Given the description of an element on the screen output the (x, y) to click on. 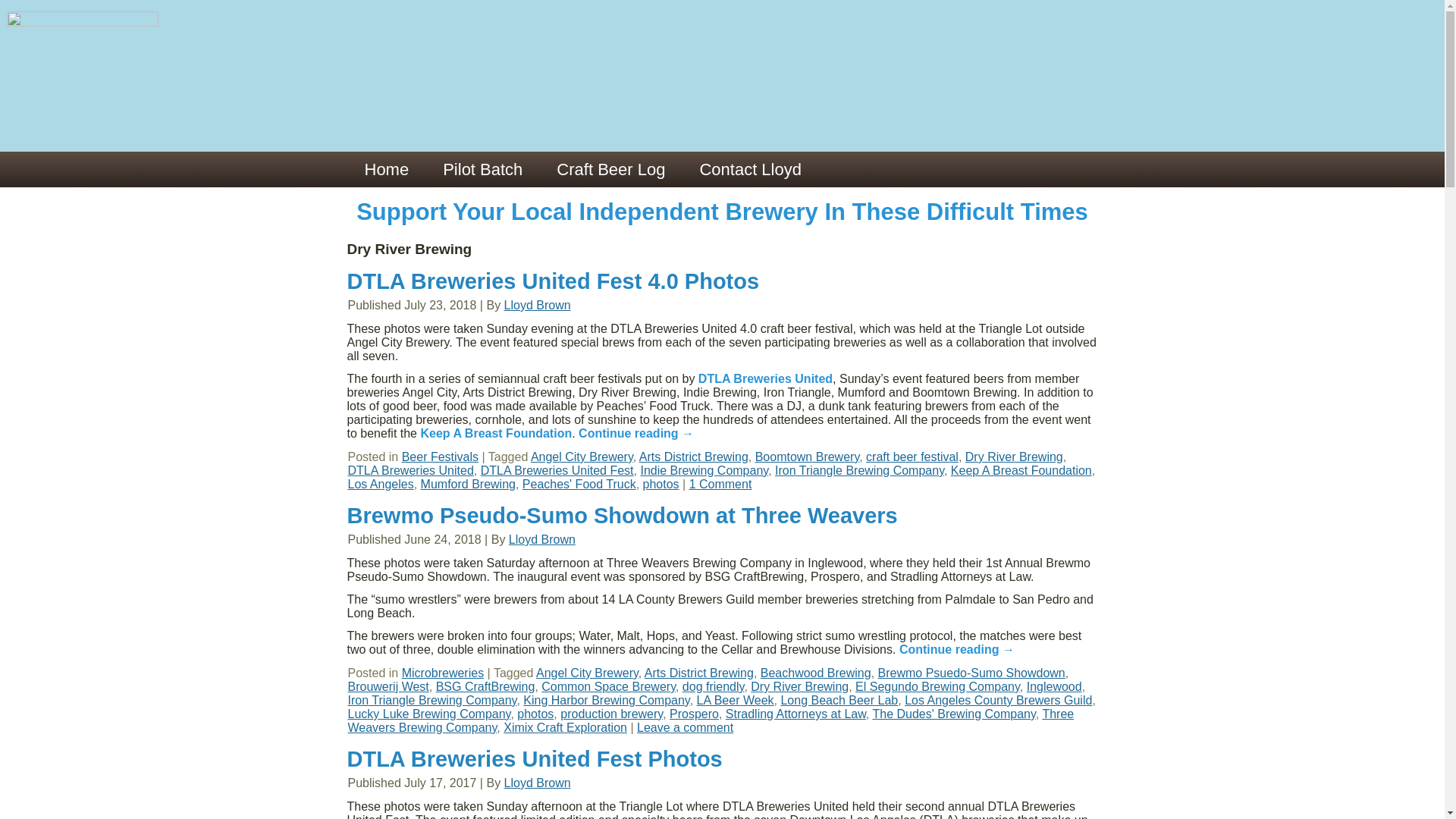
Keep A Breast Foundation (496, 432)
BSG CraftBrewing (485, 686)
Arts District Brewing (699, 672)
Brewmo Psuedo-Sumo Showdown (971, 672)
Angel City Brewery (587, 672)
Mumford Brewing (467, 483)
Welcome (386, 169)
Brewmo Pseudo-Sumo Showdown at Three Weavers (622, 515)
Home (386, 169)
Peaches' Food Truck (579, 483)
